Given the description of an element on the screen output the (x, y) to click on. 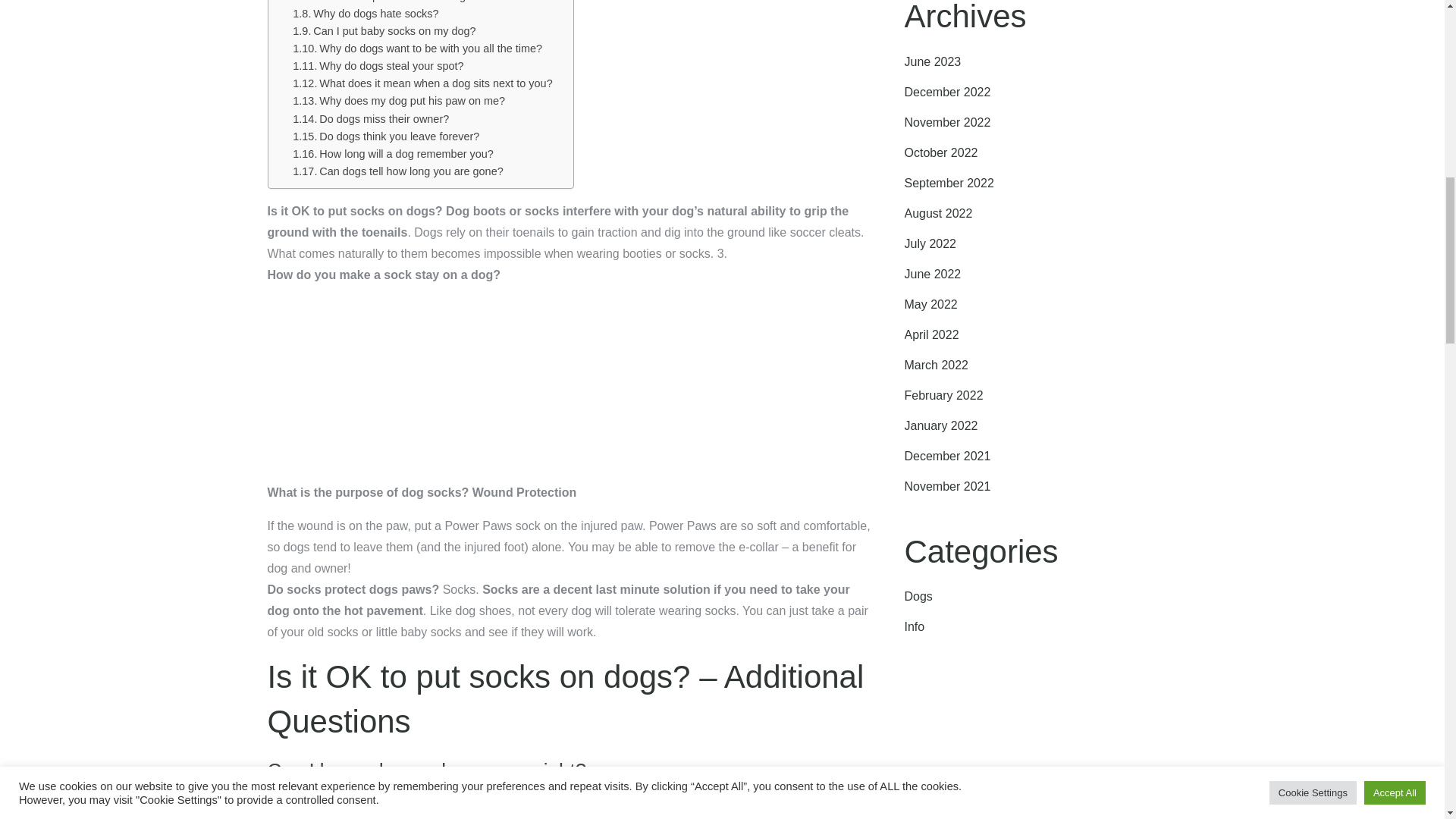
Why do dogs steal your spot? (377, 66)
Why do dogs hate socks? (365, 13)
October 2022 (940, 152)
Can I put baby socks on my dog? (384, 31)
Can dogs tell how long you are gone? (397, 171)
What does it mean when a dog sits next to you? (421, 83)
December 2022 (947, 91)
Why does my dog put his paw on me? (398, 100)
June 2023 (932, 61)
Why do dogs want to be with you all the time? (416, 48)
